Given the description of an element on the screen output the (x, y) to click on. 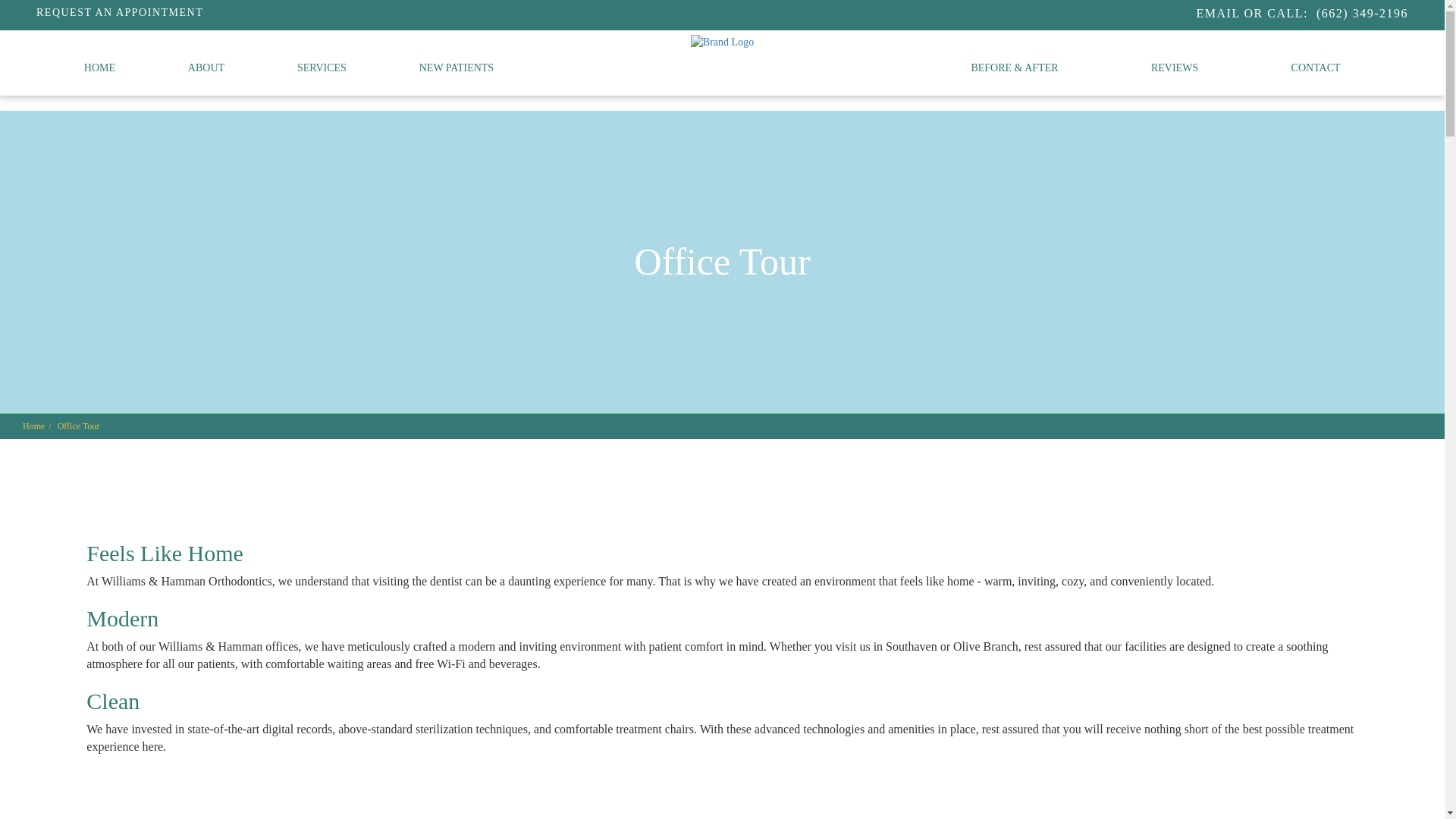
REQUEST AN APPOINTMENT (119, 12)
EMAIL (1218, 12)
Brand Logo (722, 42)
SERVICES (321, 68)
NEW PATIENTS (456, 68)
HOME (99, 68)
ABOUT (205, 68)
REVIEWS (1174, 68)
CONTACT (1315, 68)
